Given the description of an element on the screen output the (x, y) to click on. 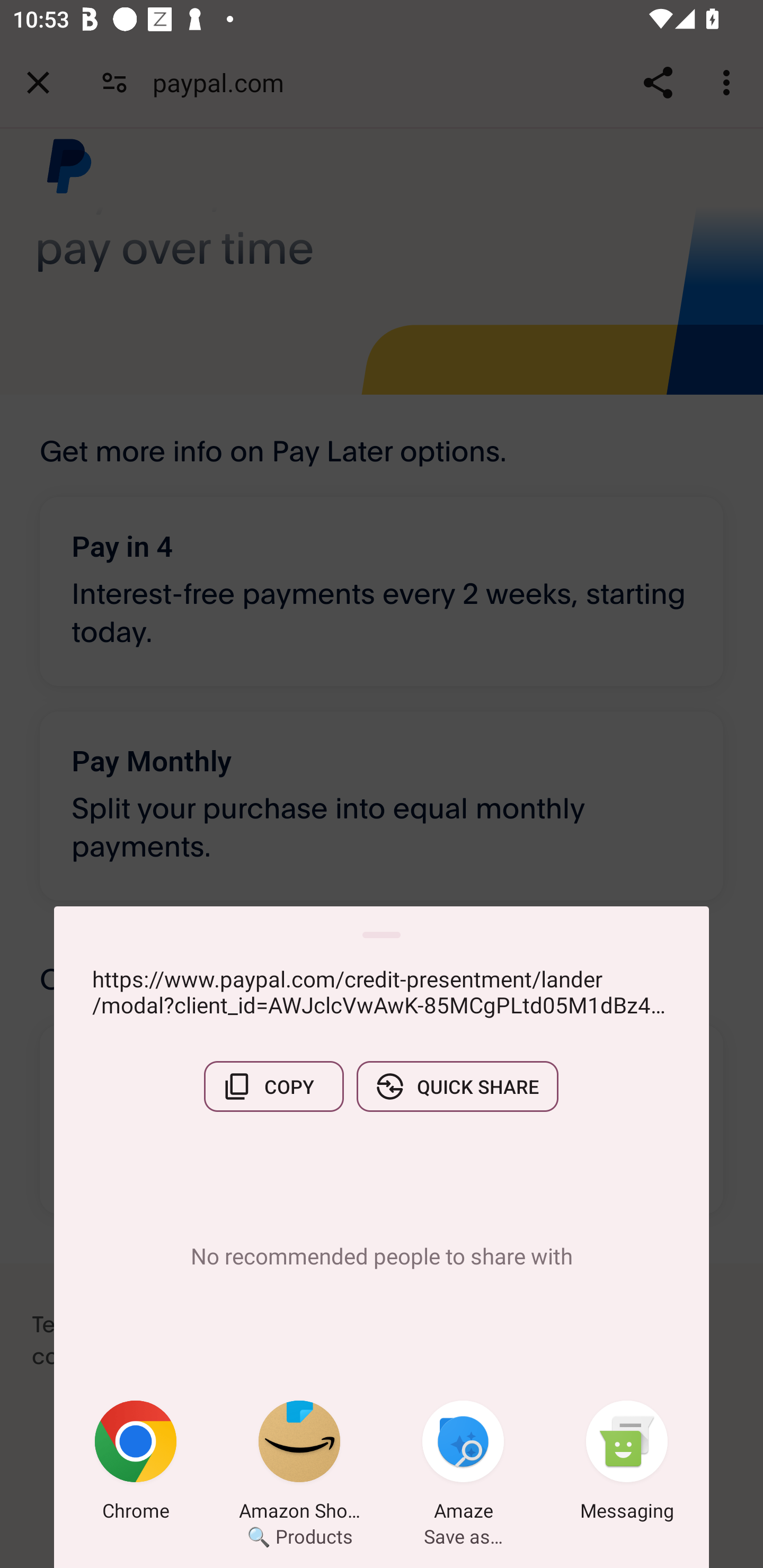
COPY (273, 1086)
QUICK SHARE (457, 1086)
Chrome (135, 1463)
Amazon Shopping 🔍 Products (299, 1463)
Amaze Save as… (463, 1463)
Messaging (626, 1463)
